Given the description of an element on the screen output the (x, y) to click on. 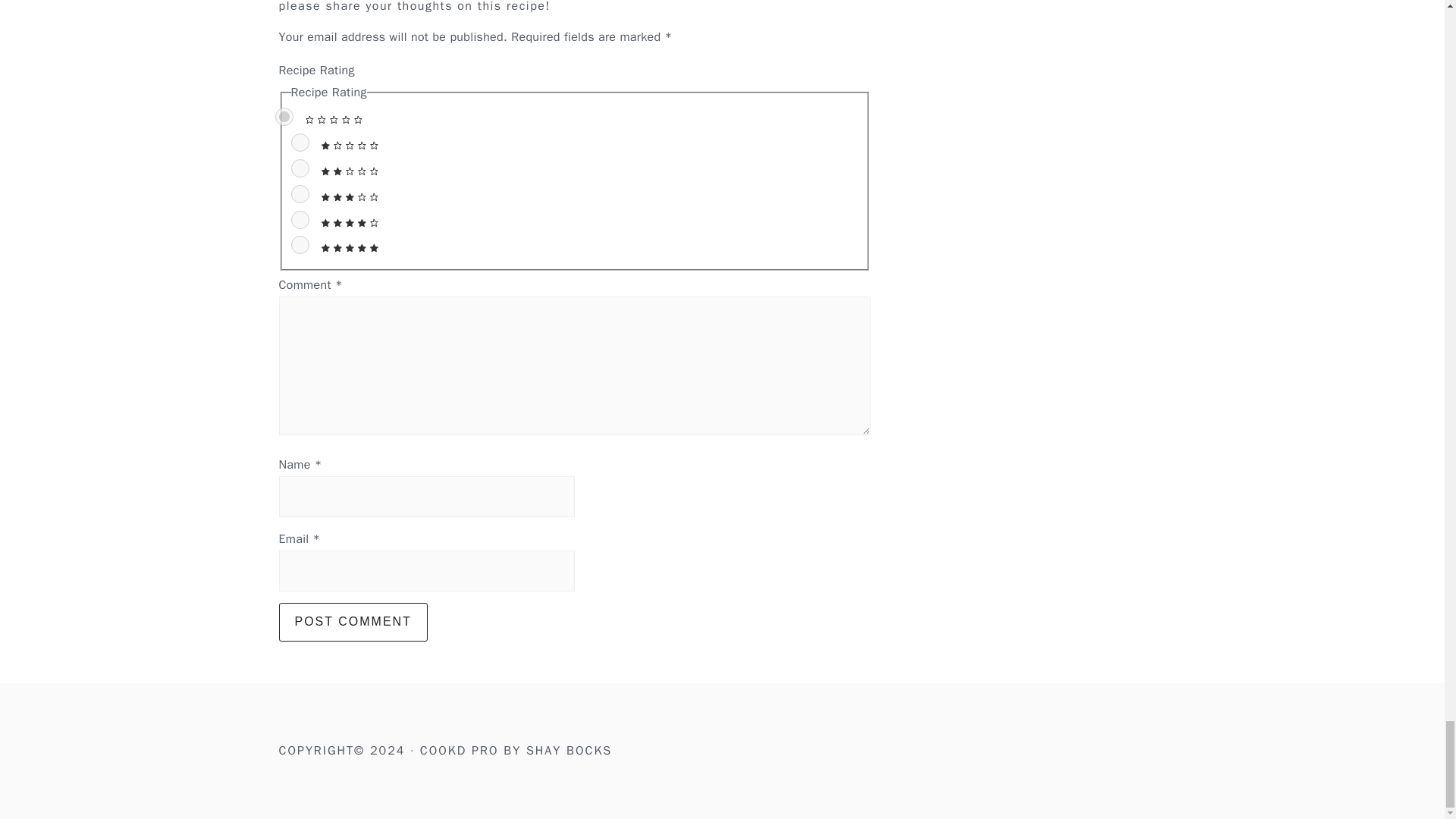
0 (283, 116)
5 (299, 244)
1 (299, 142)
4 (299, 219)
2 (299, 167)
Post Comment (353, 621)
3 (299, 194)
